Given the description of an element on the screen output the (x, y) to click on. 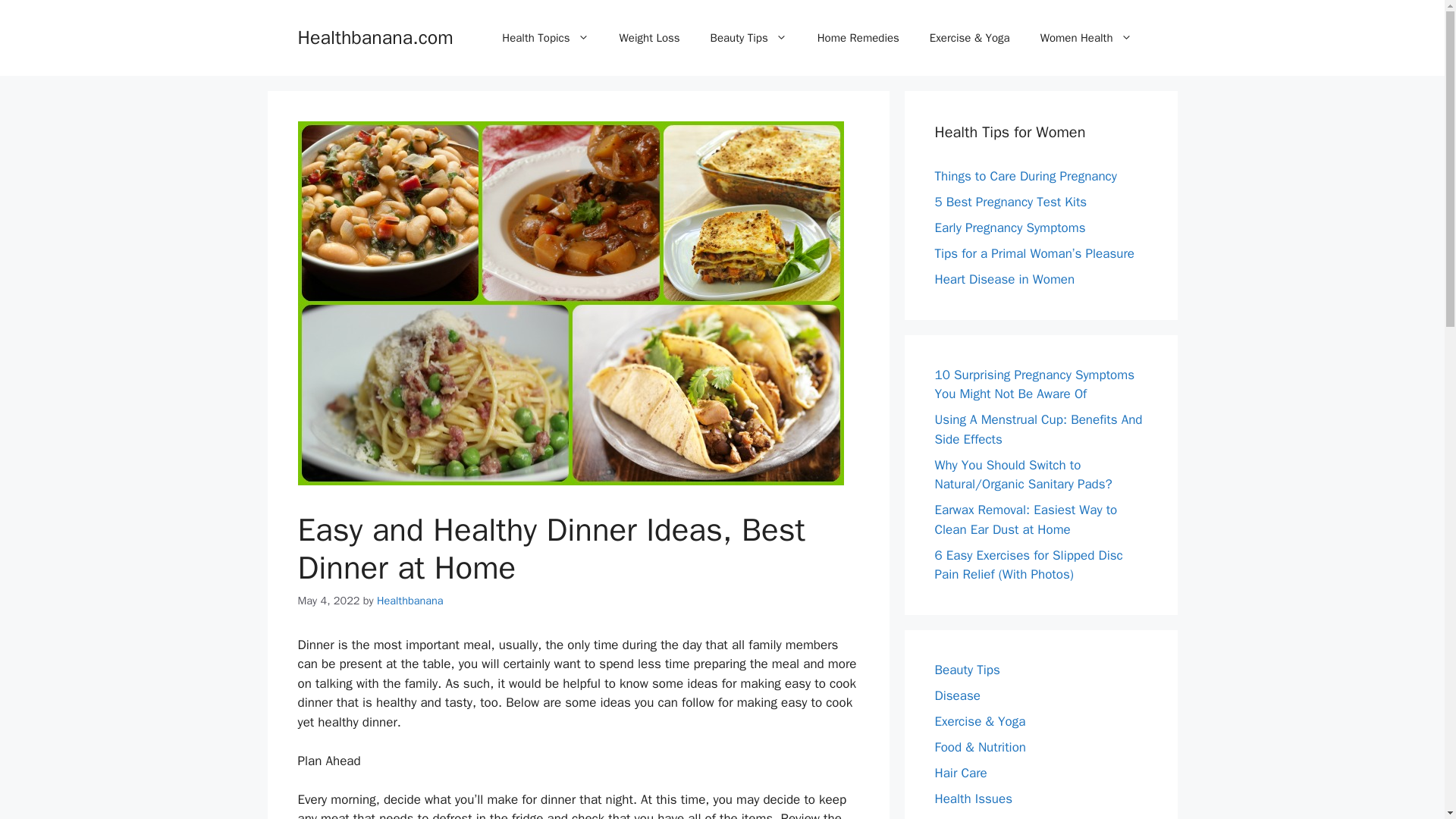
Healthbanana.com (374, 37)
Weight Loss (649, 37)
Early Pregnancy Symptoms (1009, 227)
Things to Care During Pregnancy (1025, 176)
Beauty Tips (748, 37)
Healthbanana (410, 600)
Health Topics (545, 37)
View all posts by Healthbanana (410, 600)
Using A Menstrual Cup: Benefits And Side Effects (1037, 429)
5 Best Pregnancy Test Kits (1010, 201)
Heart Disease in Women (1004, 279)
Women Health (1086, 37)
Home Remedies (858, 37)
10 Surprising Pregnancy Symptoms You Might Not Be Aware Of (1034, 384)
